Given the description of an element on the screen output the (x, y) to click on. 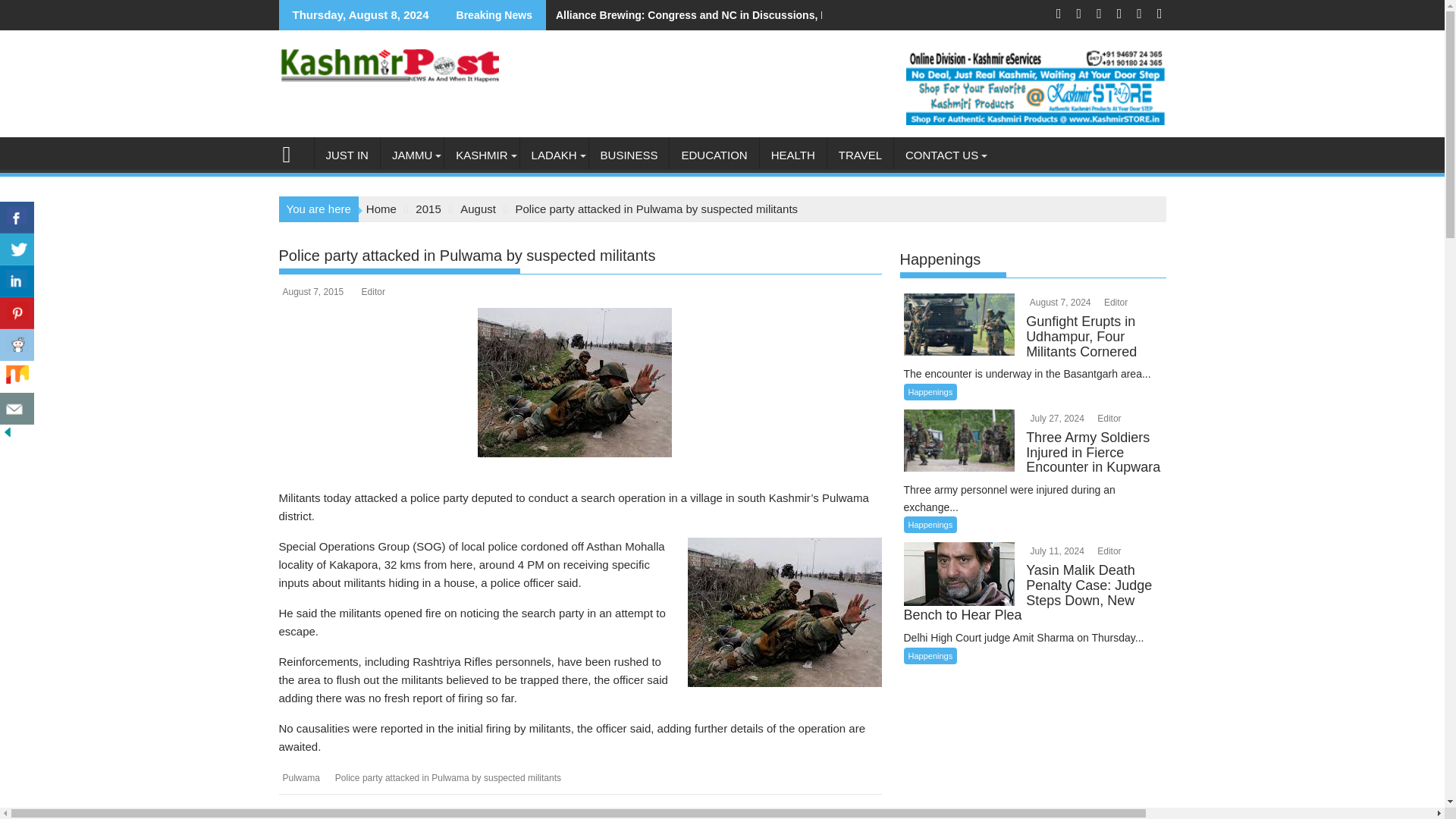
Alliance Brewing: Congress and NC in Discussions, PDP Absent (713, 15)
KASHMIR (481, 155)
JUST IN (346, 155)
JAMMU (412, 155)
Alliance Brewing: Congress and NC in Discussions, PDP Absent (713, 15)
Kashmir POST (293, 152)
